Given the description of an element on the screen output the (x, y) to click on. 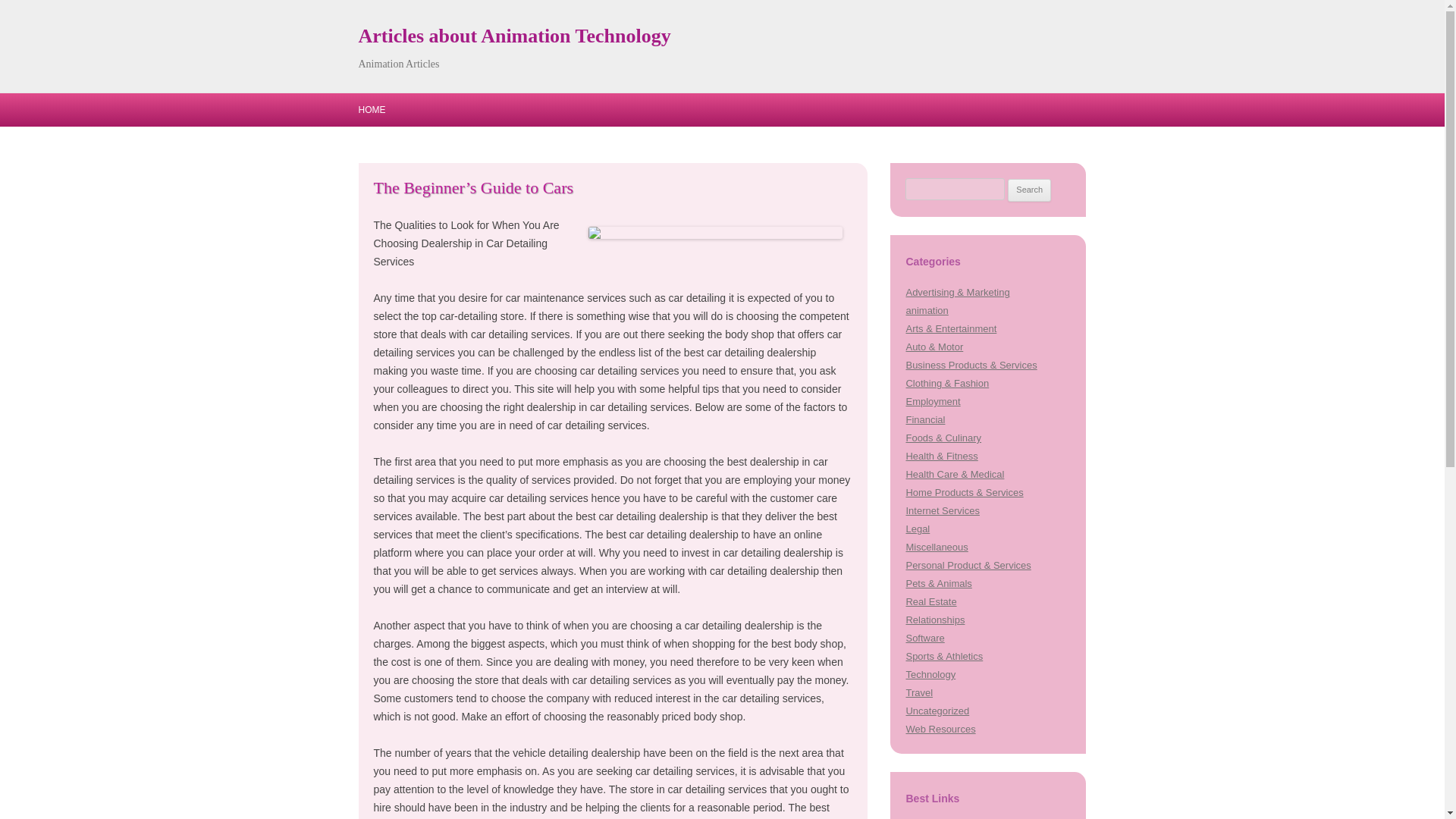
Employment (932, 401)
Web Resources (940, 728)
Technology (930, 674)
Miscellaneous (936, 546)
Search (1029, 190)
Articles about Animation Technology (513, 36)
Financial (924, 419)
Real Estate (930, 601)
